Given the description of an element on the screen output the (x, y) to click on. 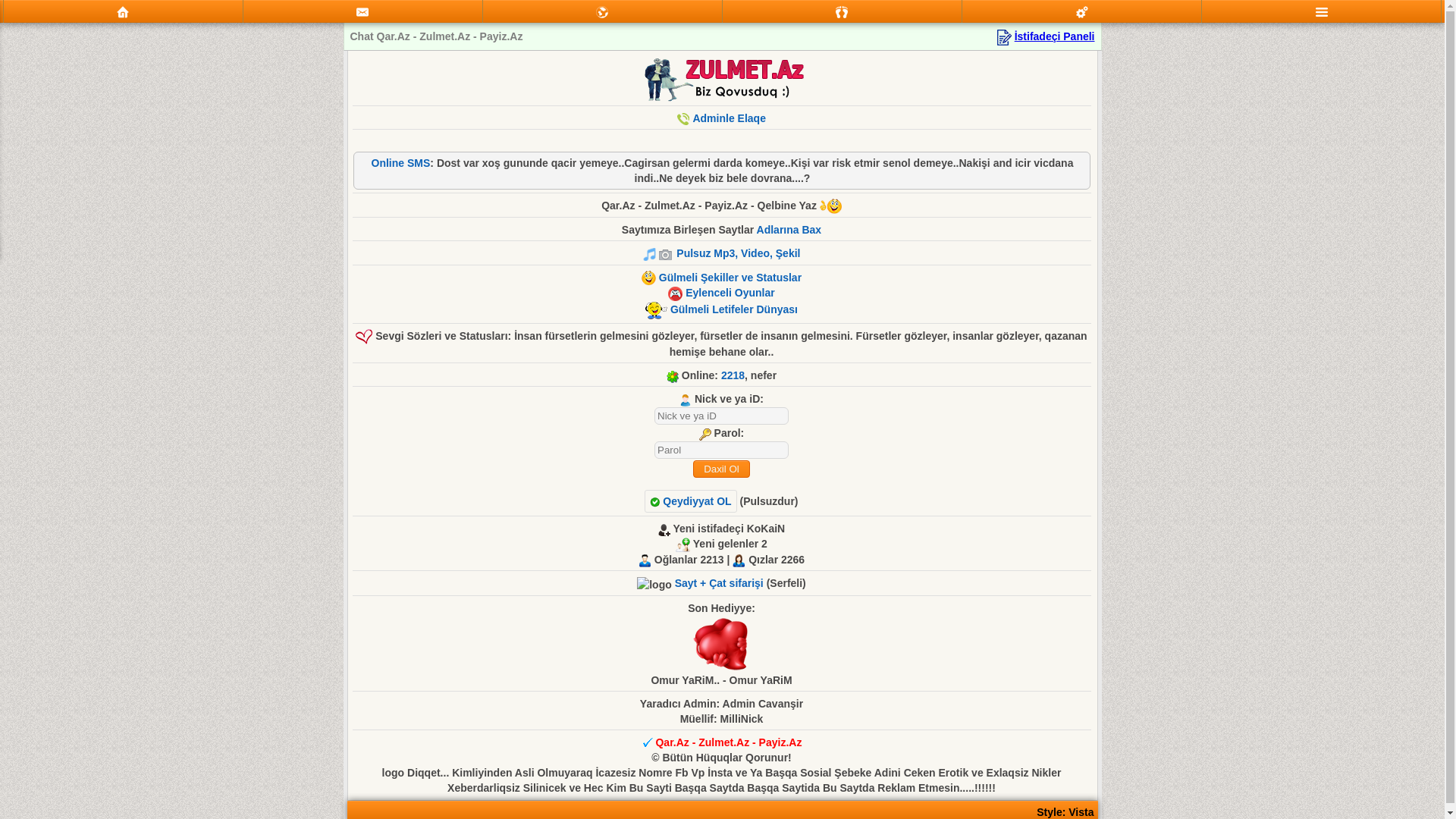
Mektublar Element type: hover (602, 11)
Qonaqlar Element type: hover (841, 11)
Qeydiyyat OL Element type: text (690, 500)
Mesajlar Element type: hover (362, 11)
Style: Vista Element type: text (1064, 812)
Daxil Ol Element type: text (721, 468)
Ana Sehife Element type: hover (122, 11)
Parol Element type: hover (721, 449)
nick Element type: hover (721, 415)
Eylenceli Oyunlar Element type: text (730, 292)
Mektublar Element type: hover (602, 12)
Ana Sehife Element type: hover (122, 12)
Mesajlar Element type: hover (362, 12)
Adminle Elaqe Element type: text (728, 118)
Online SMS Element type: text (400, 162)
Qonaqlar Element type: hover (841, 12)
Qar.Az - Zulmet.Az - Payiz.Az Element type: text (728, 742)
2218 Element type: text (732, 375)
